Given the description of an element on the screen output the (x, y) to click on. 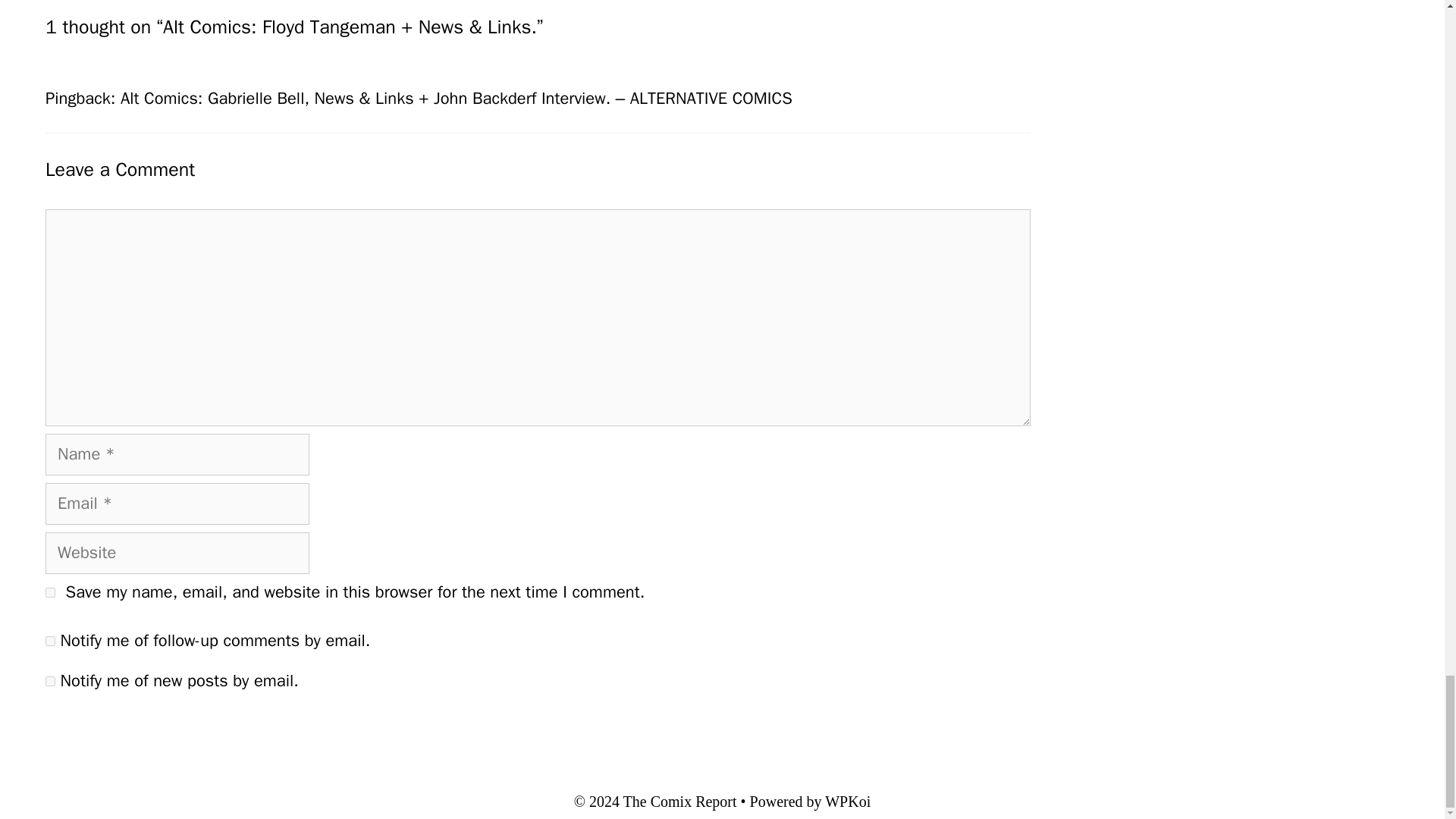
Post Comment (111, 731)
Post Comment (111, 731)
subscribe (50, 681)
subscribe (50, 641)
yes (50, 592)
